Given the description of an element on the screen output the (x, y) to click on. 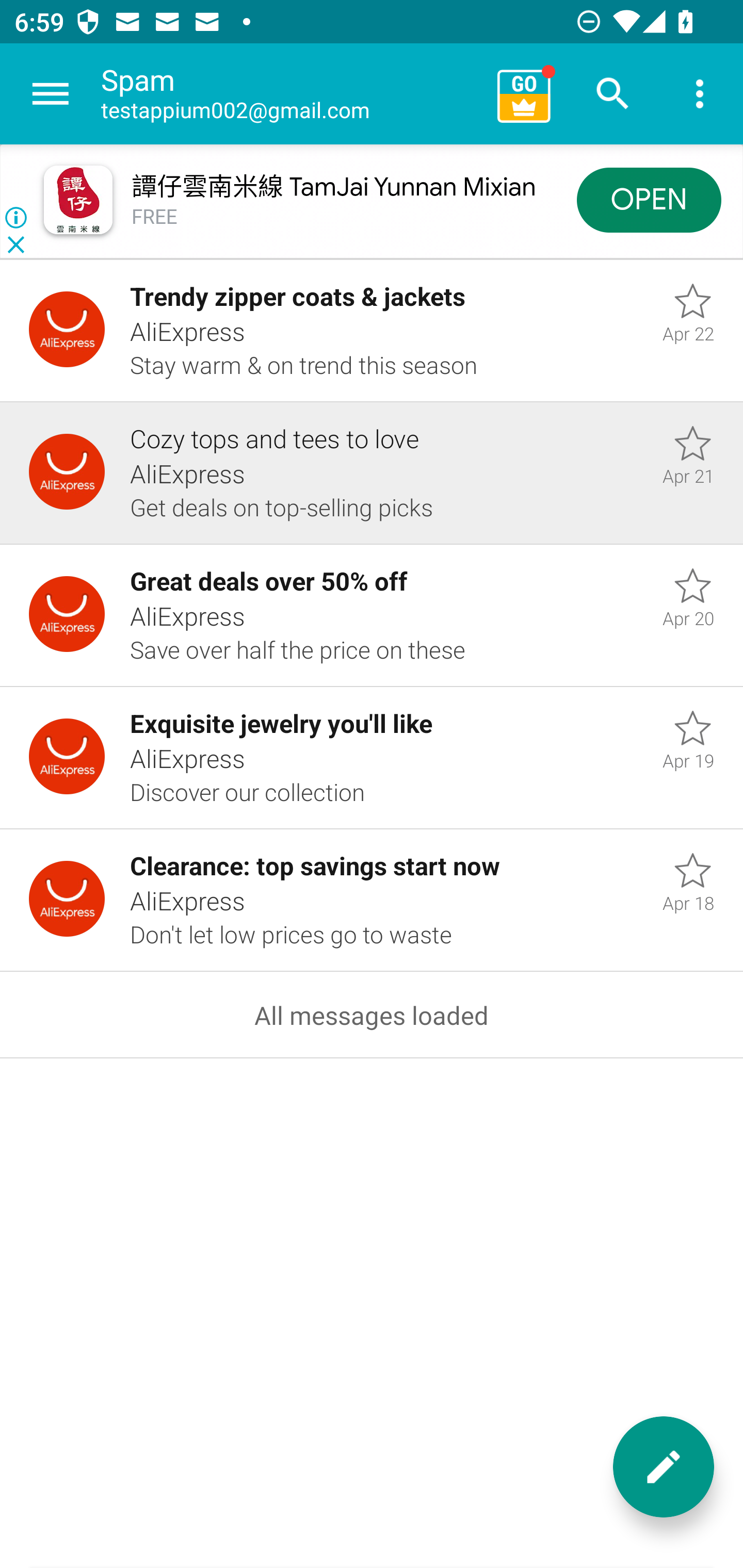
Navigate up (50, 93)
Spam testappium002@gmail.com (291, 93)
Search (612, 93)
More options (699, 93)
OPEN (648, 199)
譚仔雲南米線 TamJai Yunnan Mixian (333, 186)
FREE (154, 216)
All messages loaded (371, 1015)
New message (663, 1466)
